Given the description of an element on the screen output the (x, y) to click on. 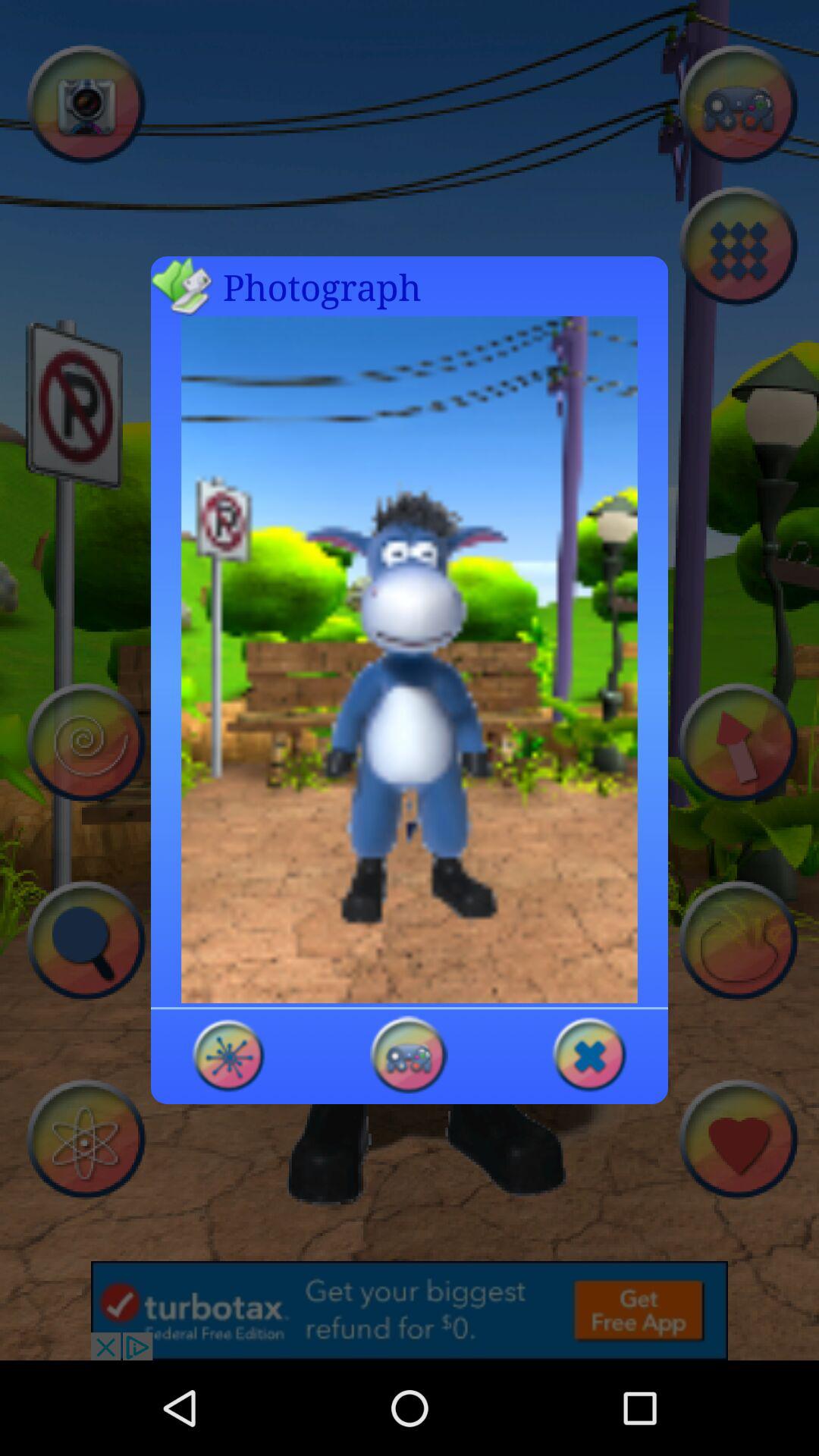
click the item at the bottom left corner (229, 1054)
